Given the description of an element on the screen output the (x, y) to click on. 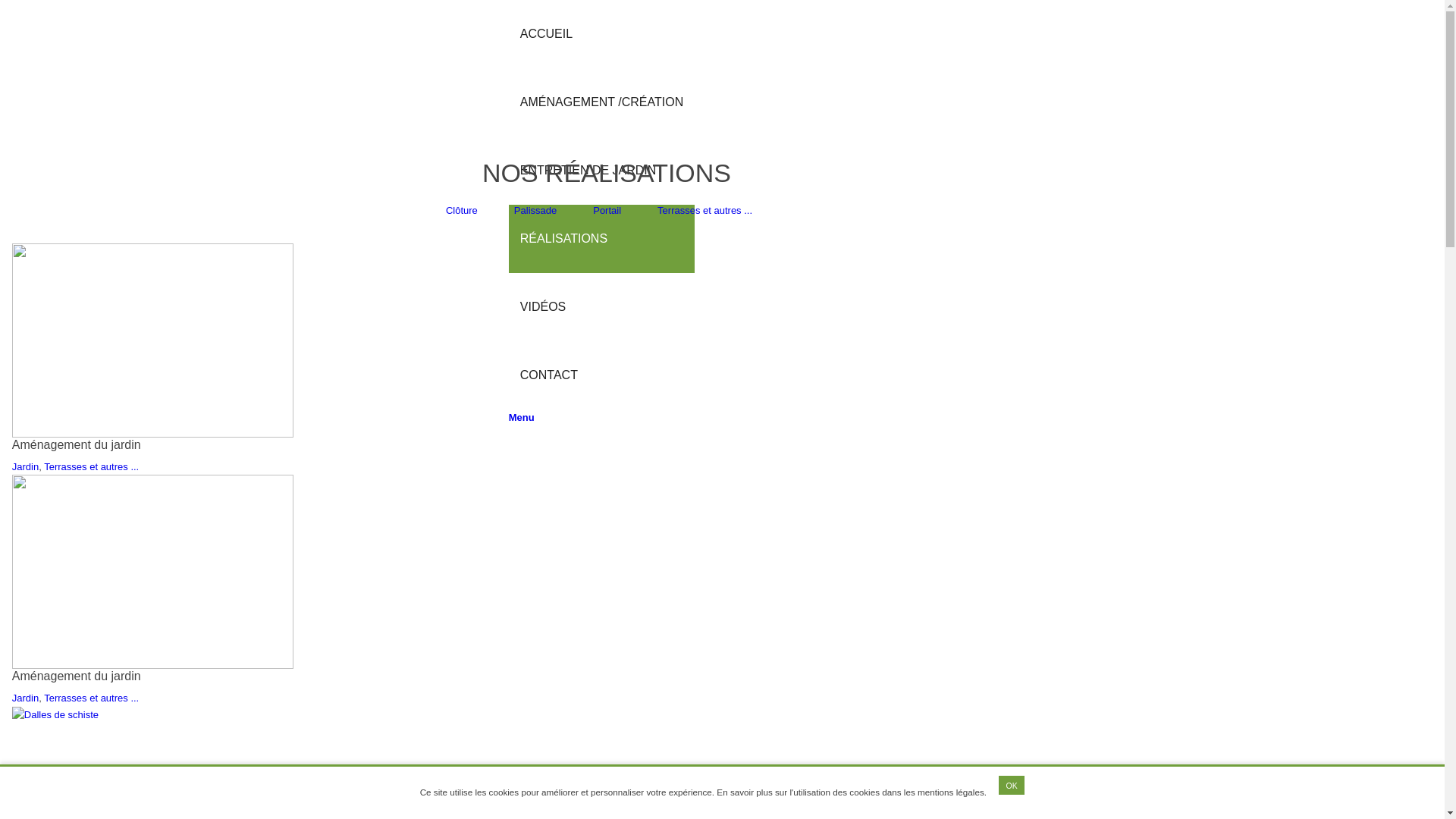
Terrasses et autres ... Element type: text (704, 210)
CONTACT Element type: text (548, 374)
Terrasses et autres ... Element type: text (90, 466)
Portail Element type: text (606, 210)
Terrasses et autres ... Element type: text (90, 697)
Jardin Element type: text (25, 466)
Menu Element type: text (521, 417)
OK Element type: text (1011, 784)
Palissade Element type: text (535, 210)
ENTRETIEN DE JARDIN Element type: text (588, 169)
ACCUEIL Element type: text (546, 33)
Jardin Element type: text (25, 697)
